Given the description of an element on the screen output the (x, y) to click on. 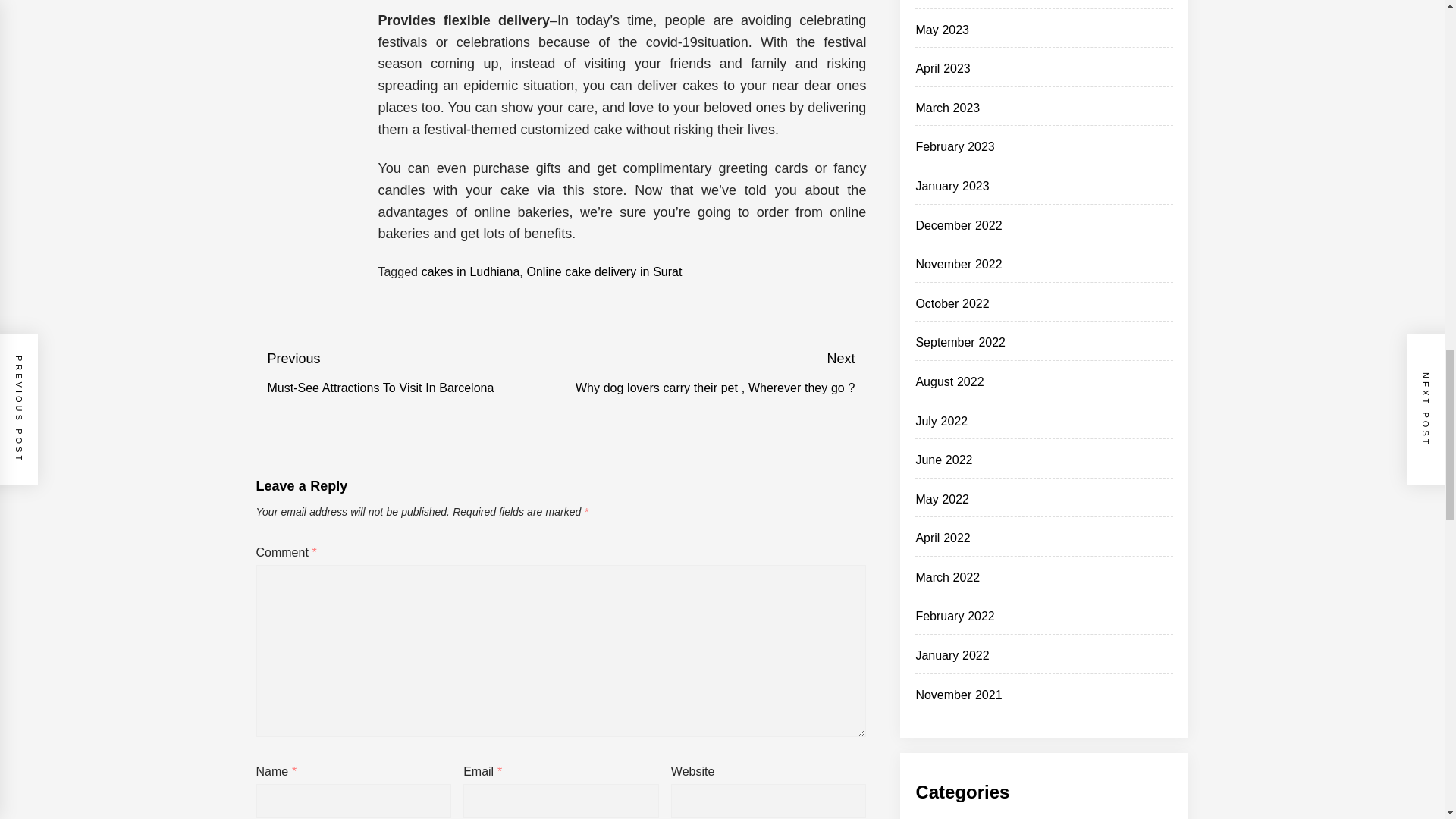
Online cake delivery in Surat (604, 271)
cakes in Ludhiana (470, 271)
